Given the description of an element on the screen output the (x, y) to click on. 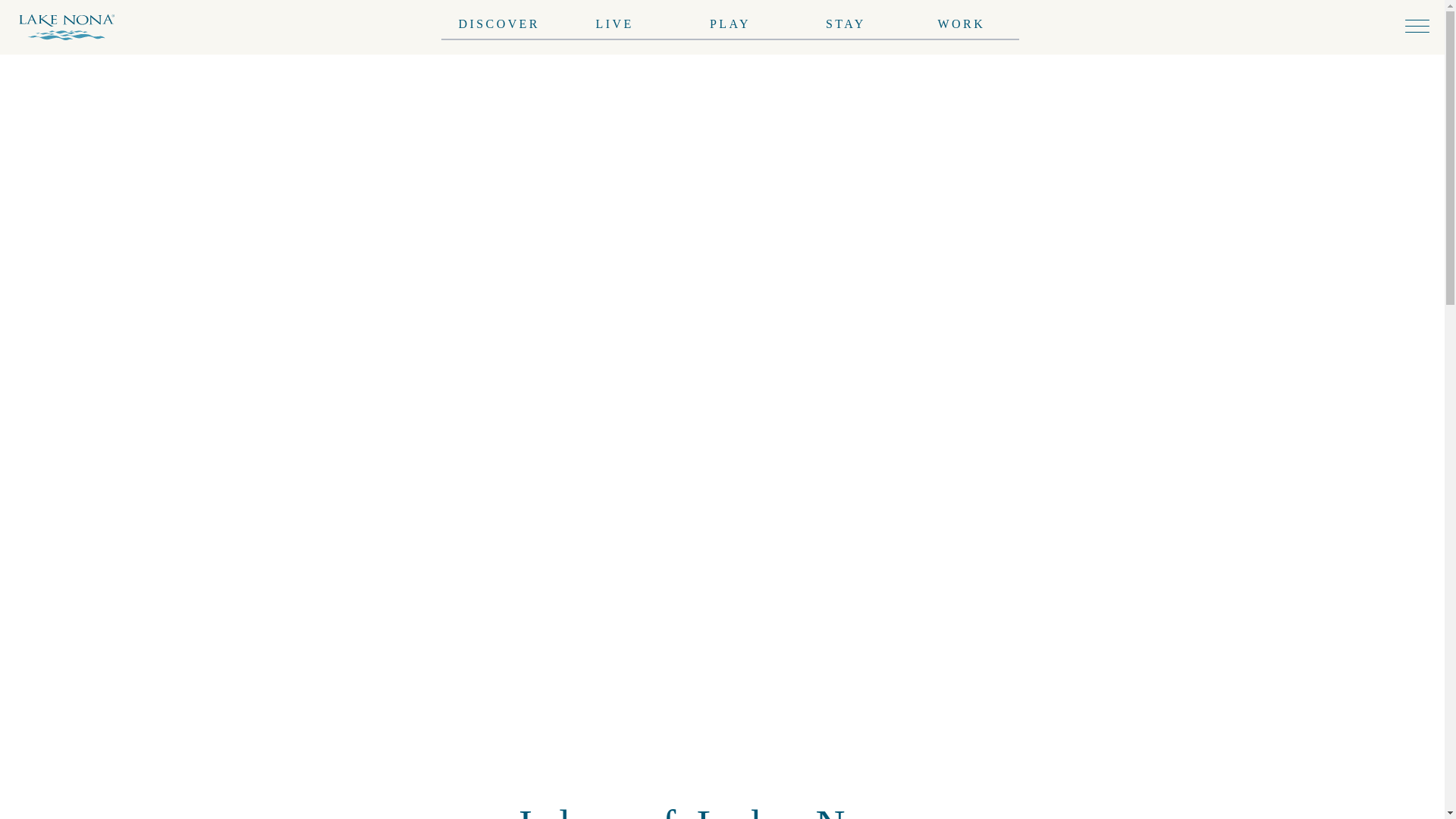
DISCOVER (498, 11)
PLAY (730, 19)
Lake Nona (73, 26)
LIVE (614, 16)
WORK (961, 21)
STAY (845, 20)
